Given the description of an element on the screen output the (x, y) to click on. 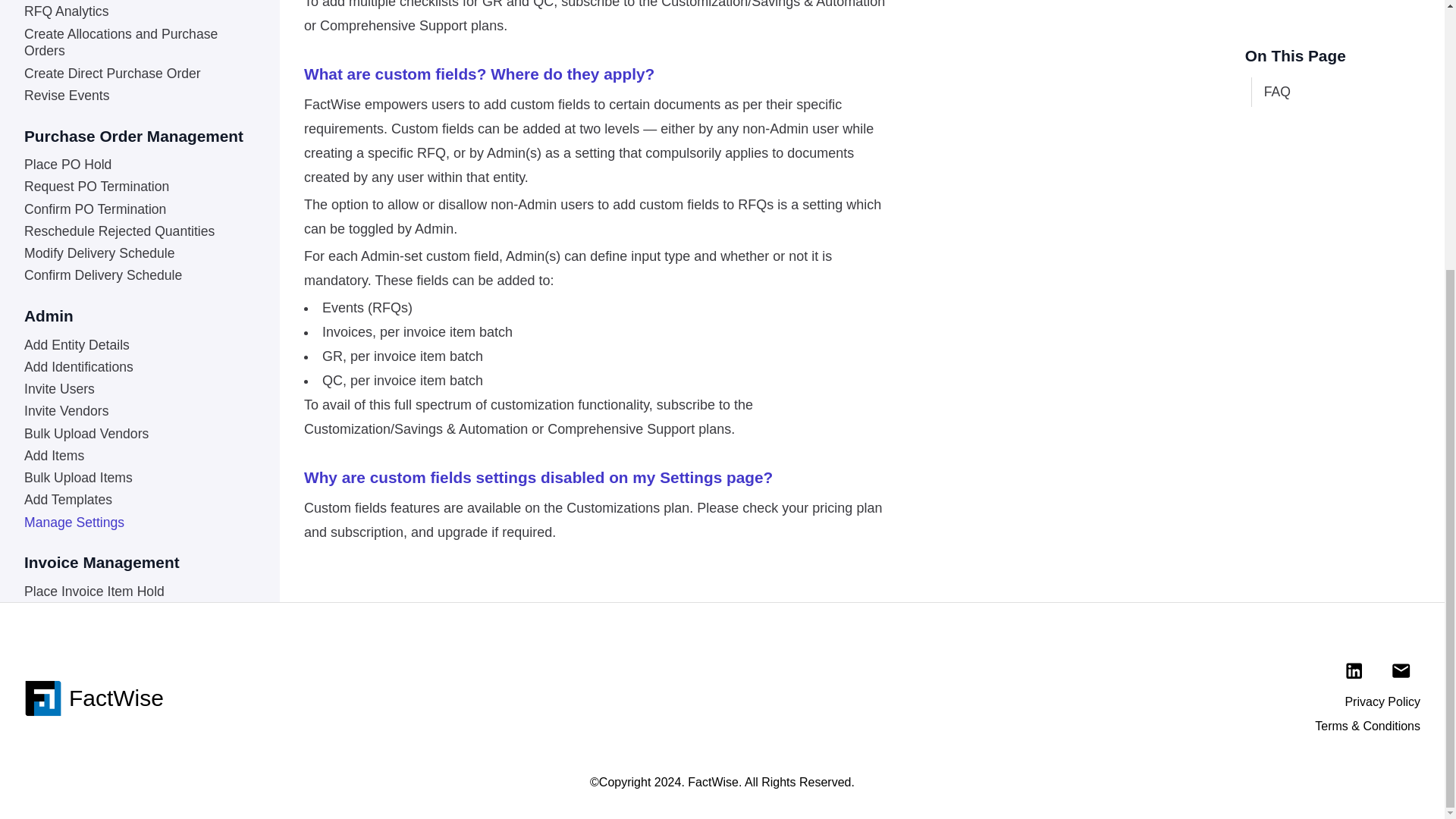
Add Items (137, 337)
Place PO Hold (137, 47)
Confirm Delivery Schedule (137, 157)
Add Templates (137, 382)
Bulk Upload Vendors (137, 315)
Manage Settings (137, 404)
Confirm PO Termination (137, 91)
Modify Delivery Schedule (137, 136)
Add Entity Details (137, 227)
Add Identifications (137, 249)
Admin (137, 201)
Invite Users (137, 271)
Bulk Upload Items (137, 360)
Purchase Order Management (137, 21)
Invite Vendors (137, 293)
